Given the description of an element on the screen output the (x, y) to click on. 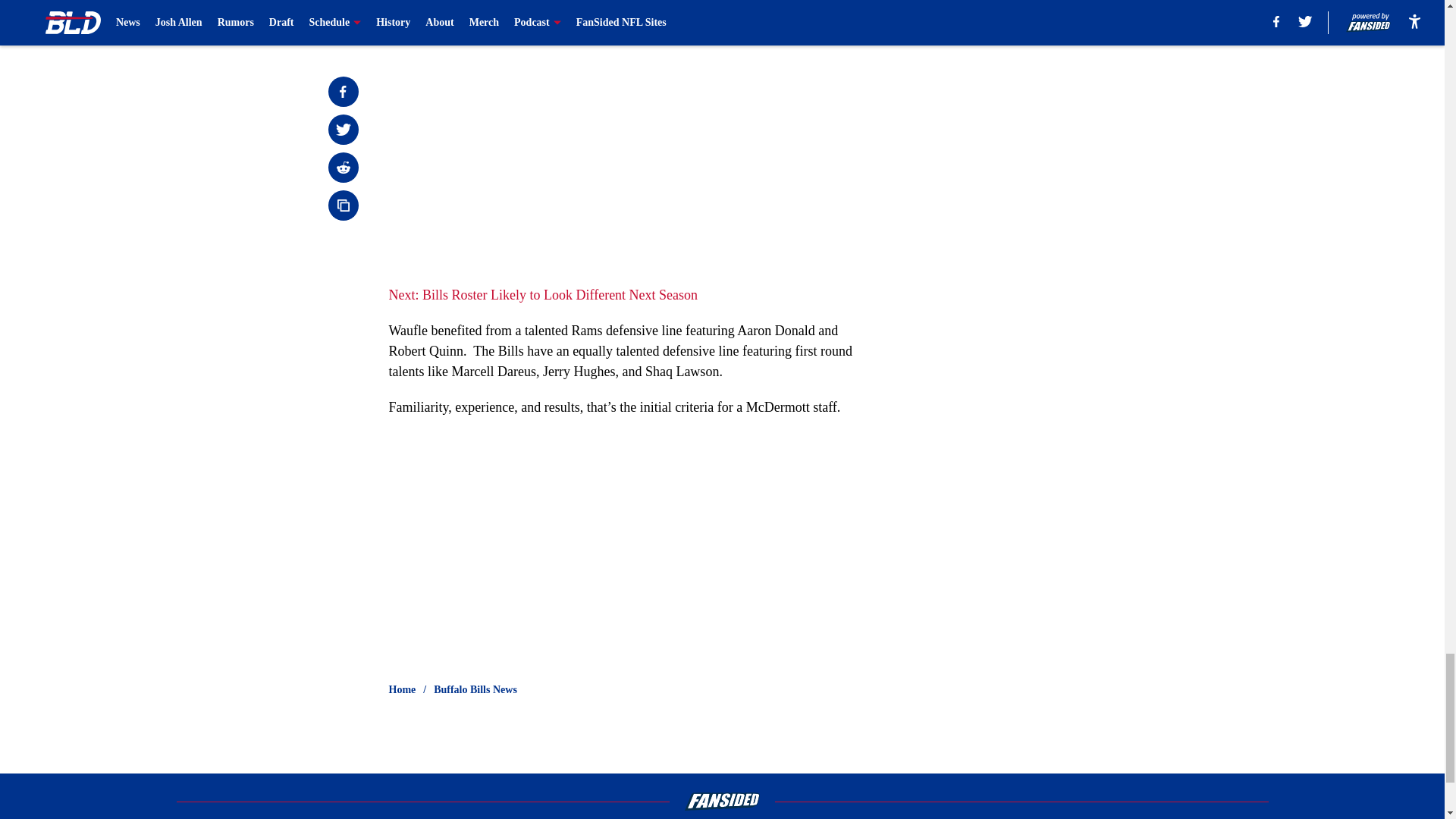
Next: Bills Roster Likely to Look Different Next Season (542, 294)
Home (401, 689)
